Given the description of an element on the screen output the (x, y) to click on. 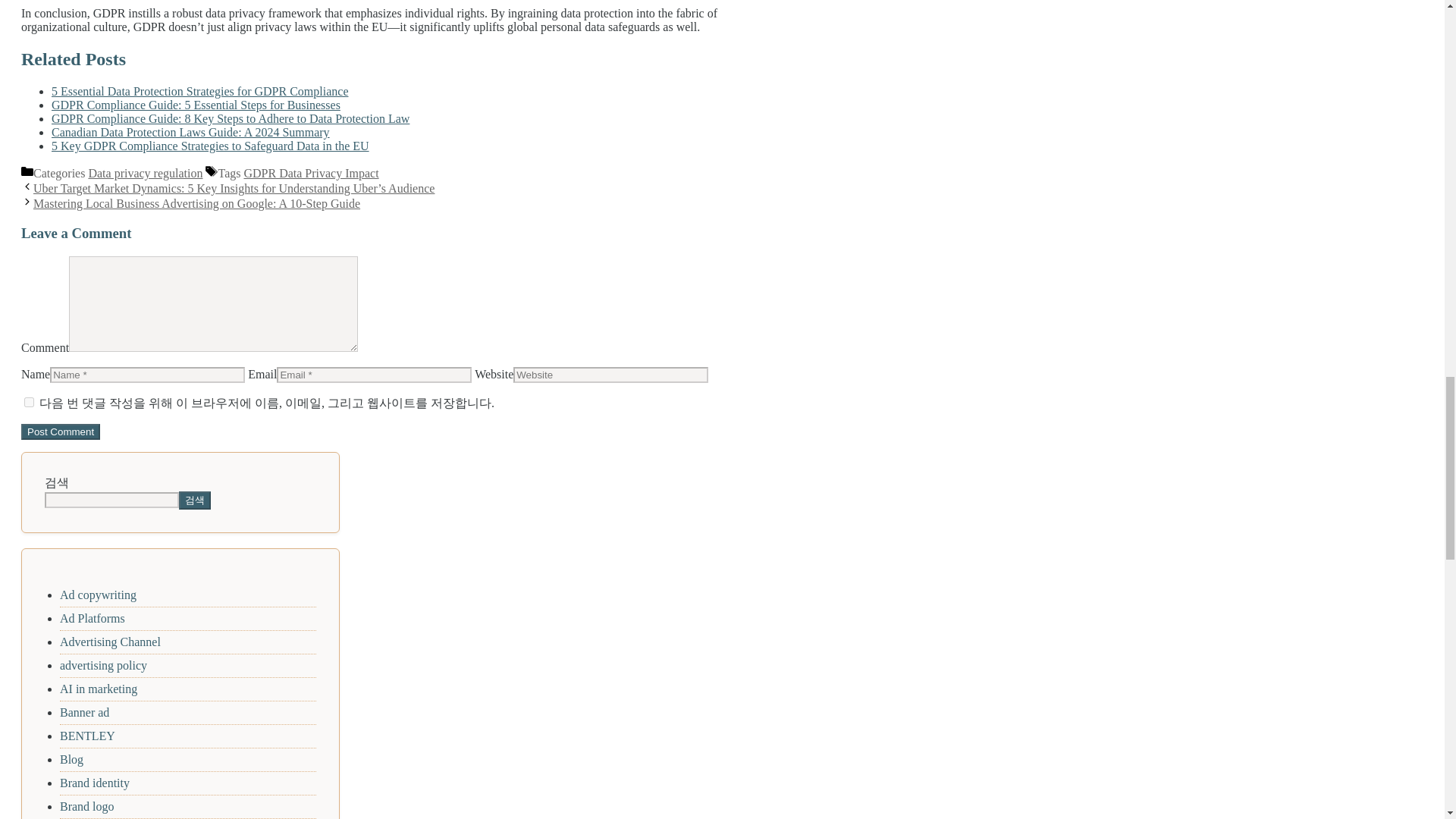
yes (28, 402)
5 Key GDPR Compliance Strategies to Safeguard Data in the EU (209, 145)
Ad copywriting (97, 594)
5 Essential Data Protection Strategies for GDPR Compliance (198, 91)
AI in marketing (97, 688)
advertising policy (103, 665)
Post Comment (60, 431)
GDPR Data Privacy Impact (310, 173)
Advertising Channel (109, 641)
Post Comment (60, 431)
Data privacy regulation (144, 173)
Banner ad (84, 712)
BENTLEY (87, 735)
